Given the description of an element on the screen output the (x, y) to click on. 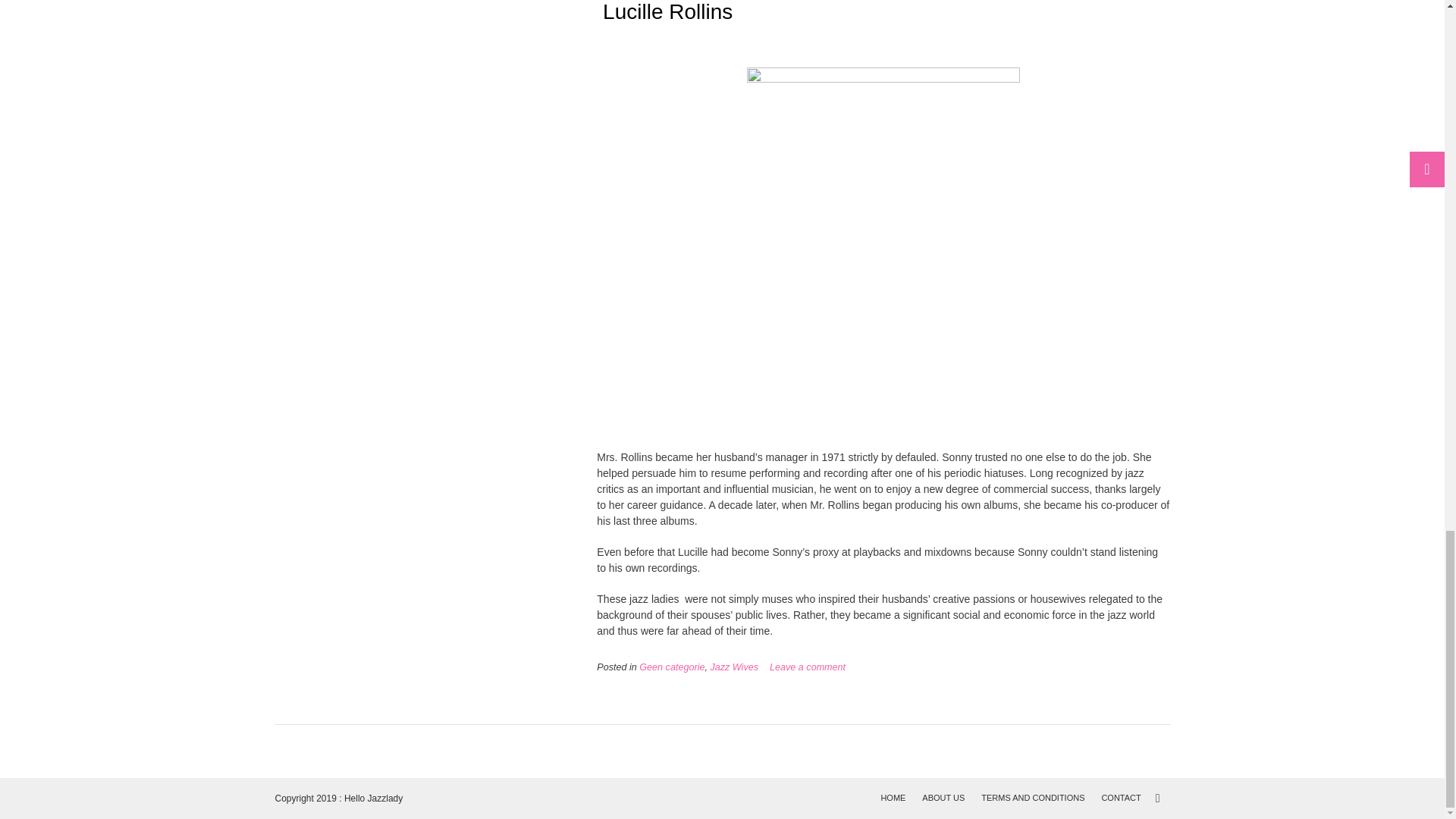
HOME (893, 797)
Geen categorie (671, 666)
ABOUT US (943, 797)
Leave a comment (807, 666)
CONTACT (1120, 797)
TERMS AND CONDITIONS (1032, 797)
Jazz Wives (734, 666)
